Given the description of an element on the screen output the (x, y) to click on. 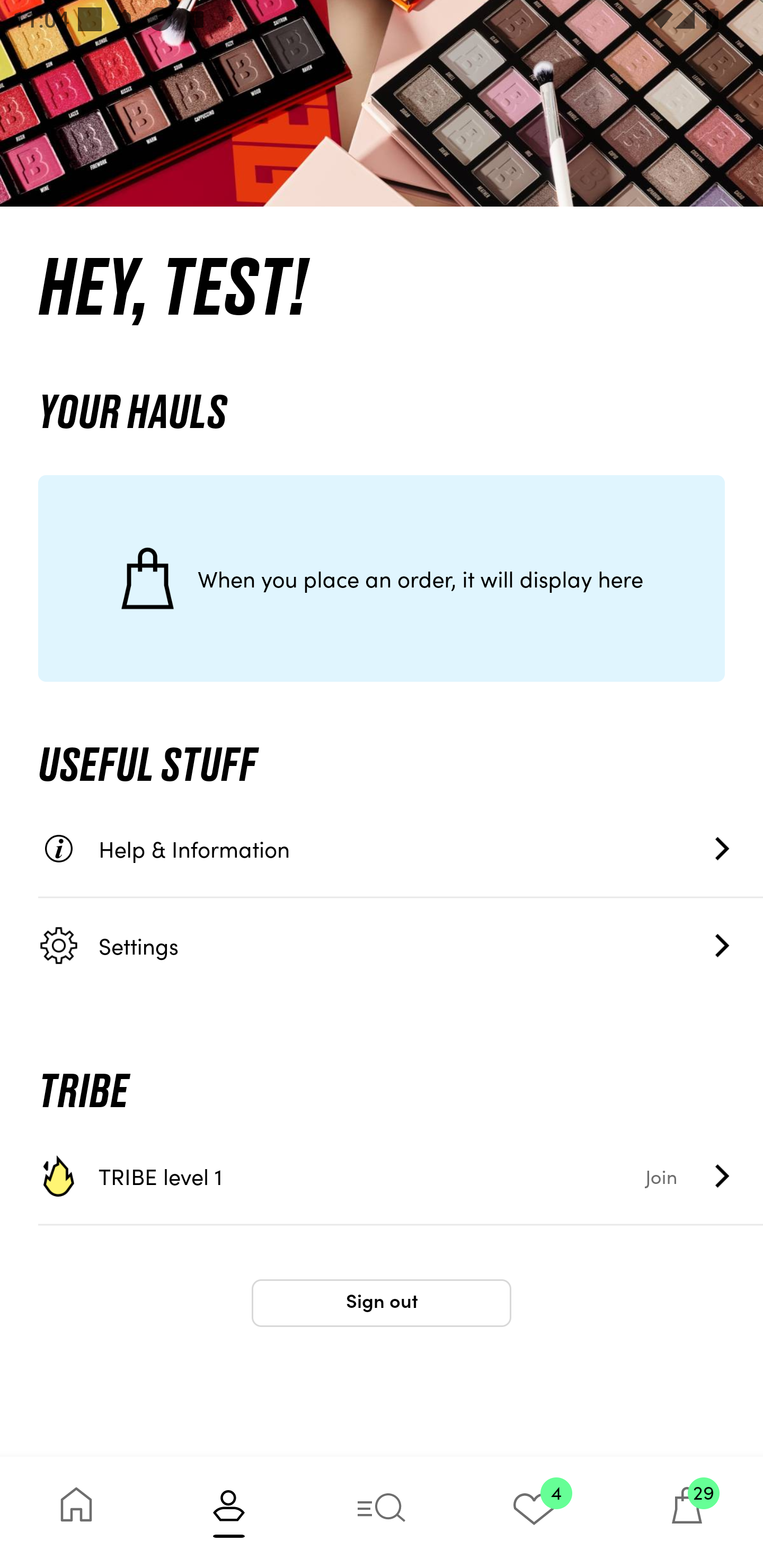
Help & Information (400, 848)
Settings (400, 945)
TRIBE level 1 Join (400, 1175)
Sign out (381, 1302)
4 (533, 1512)
29 (686, 1512)
